Given the description of an element on the screen output the (x, y) to click on. 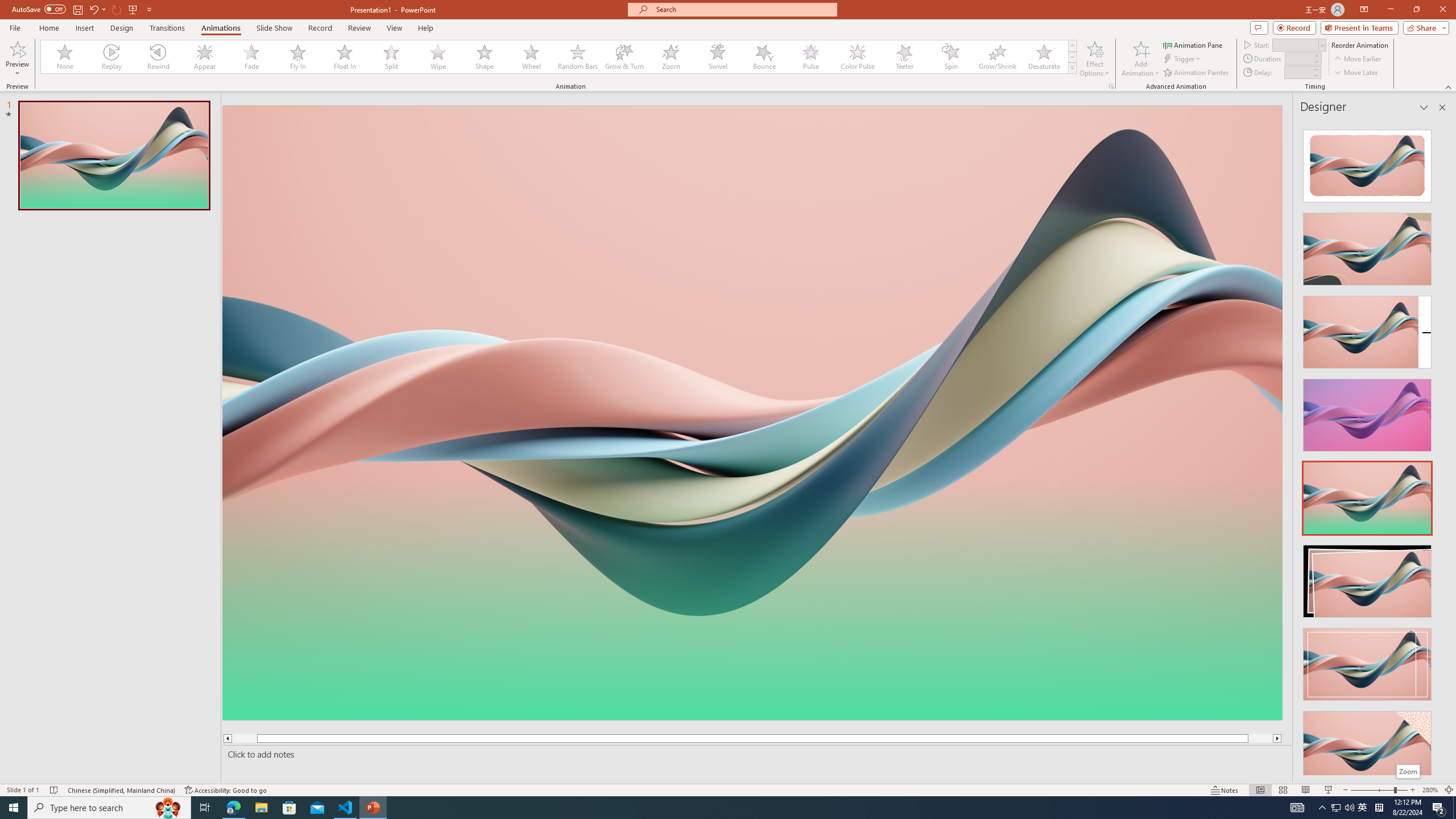
Animation Duration (1298, 58)
Animation Delay (1297, 72)
Class: NetUIScrollBar (1441, 447)
Grow/Shrink (997, 56)
Rewind (158, 56)
